Given the description of an element on the screen output the (x, y) to click on. 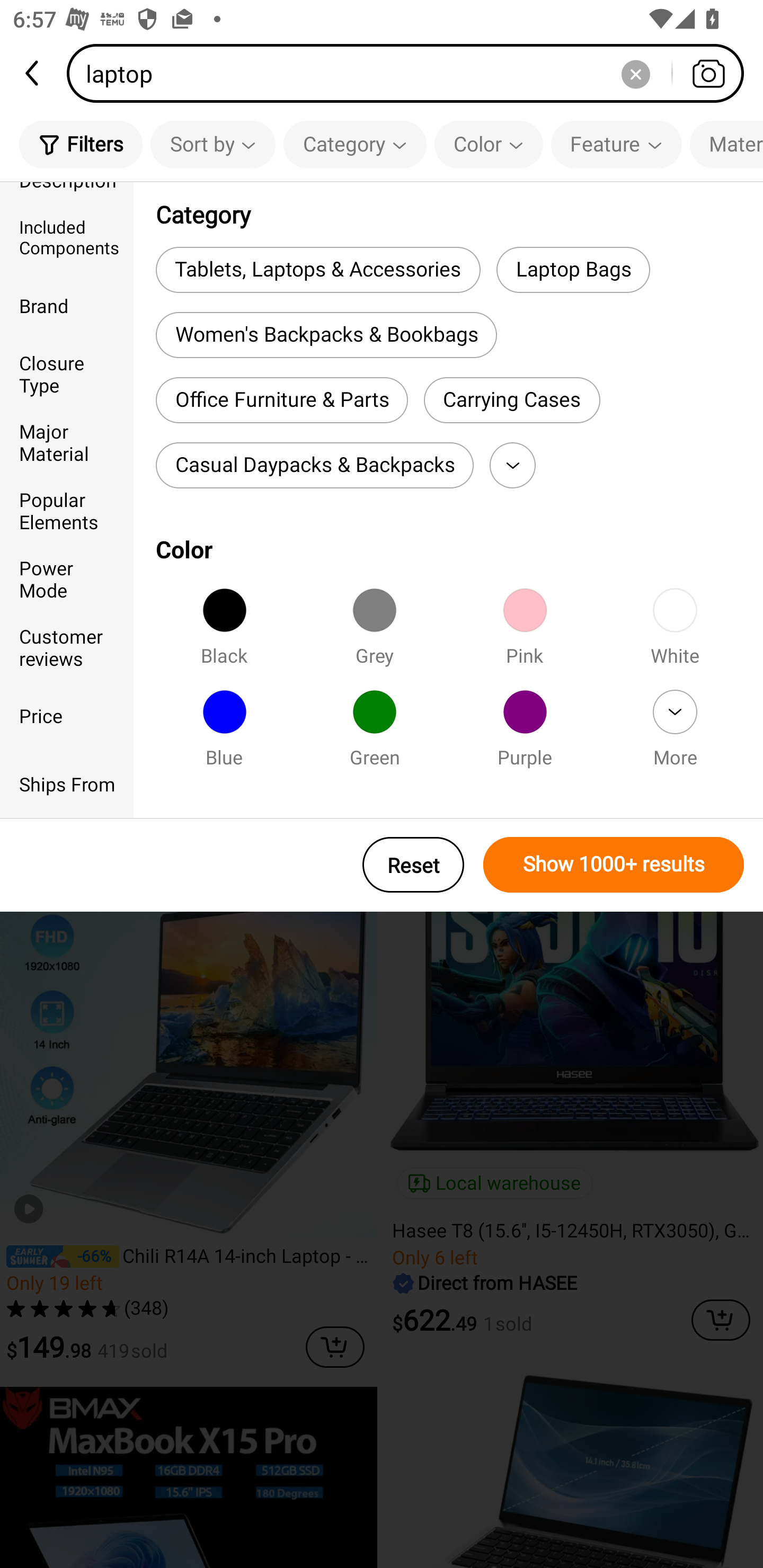
back (33, 72)
laptop (411, 73)
Delete search history (635, 73)
Search by photo (708, 73)
Filters (80, 143)
Sort by (212, 143)
Category (354, 143)
Color (488, 143)
Feature (616, 143)
Material (726, 143)
Included Components (66, 236)
Tablets, Laptops & Accessories (317, 269)
Laptop Bags (573, 269)
Brand (66, 305)
Women's Backpacks & Bookbags (325, 334)
Closure Type (66, 373)
Office Furniture & Parts (281, 400)
Carrying Cases (512, 400)
Major Material (66, 441)
Casual Daypacks & Backpacks (314, 464)
More (512, 464)
Popular Elements (66, 510)
Power Mode (66, 578)
Customer reviews (66, 646)
Price (66, 714)
Blue (224, 734)
More (674, 734)
Ships From (66, 783)
Reset (412, 864)
Show 1000+ results (612, 864)
